Given the description of an element on the screen output the (x, y) to click on. 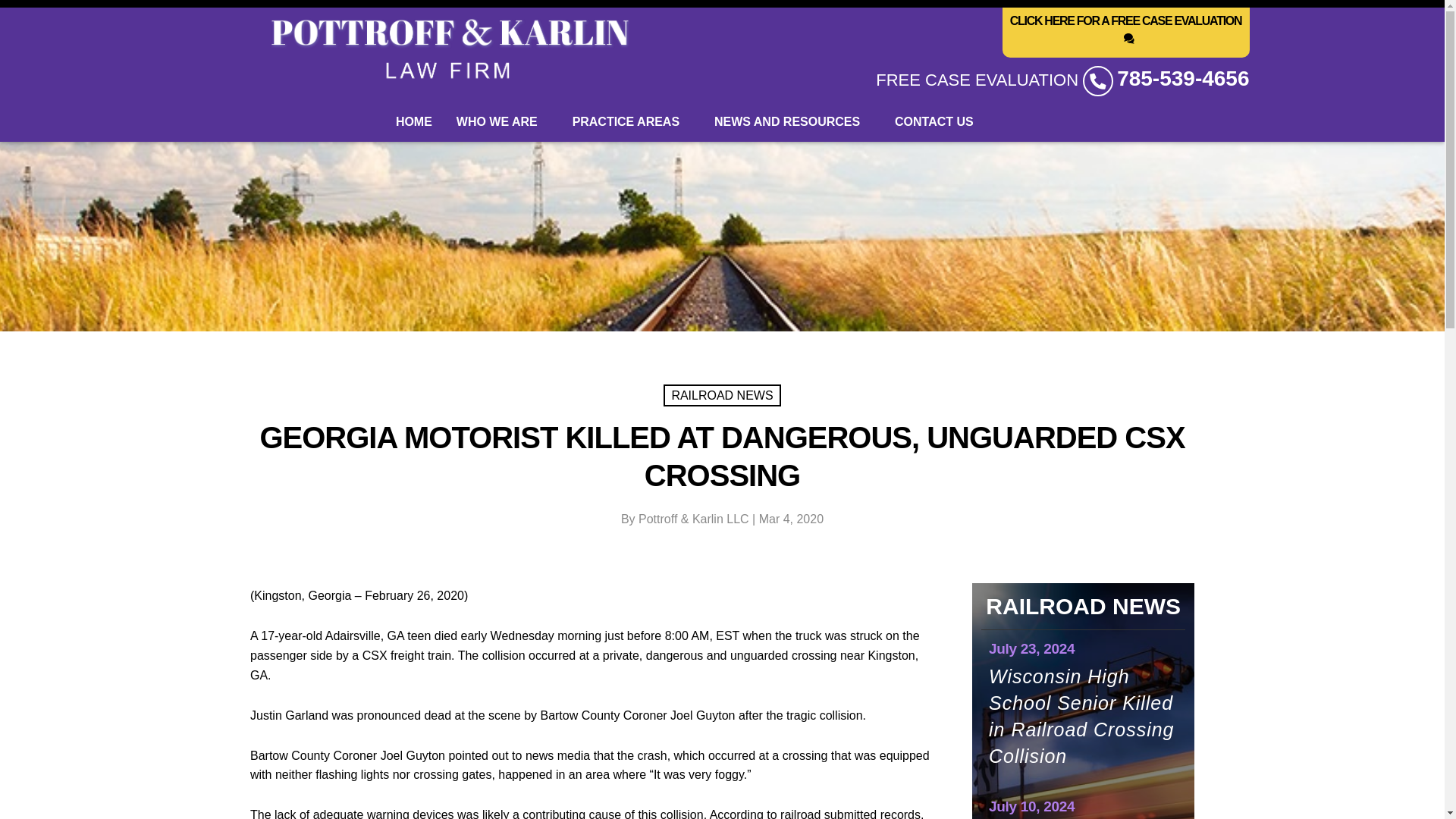
WHO WE ARE (501, 122)
PRACTICE AREAS (630, 122)
785-539-4656 (1182, 78)
HOME (414, 122)
CLICK HERE FOR A FREE CASE EVALUATION (1126, 32)
